Given the description of an element on the screen output the (x, y) to click on. 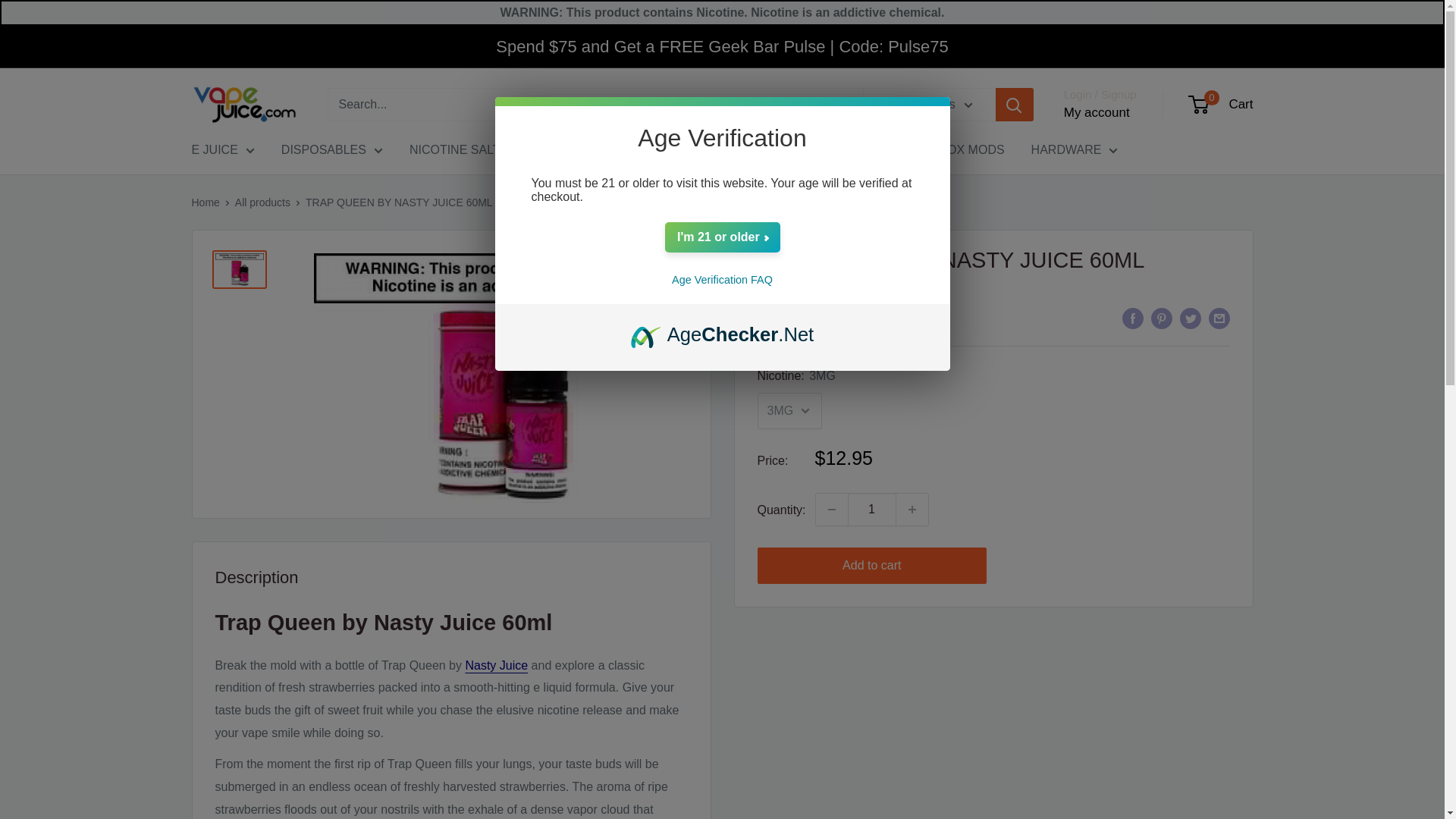
Increase quantity by 1 (912, 509)
1 (871, 509)
Decrease quantity by 1 (831, 509)
